Given the description of an element on the screen output the (x, y) to click on. 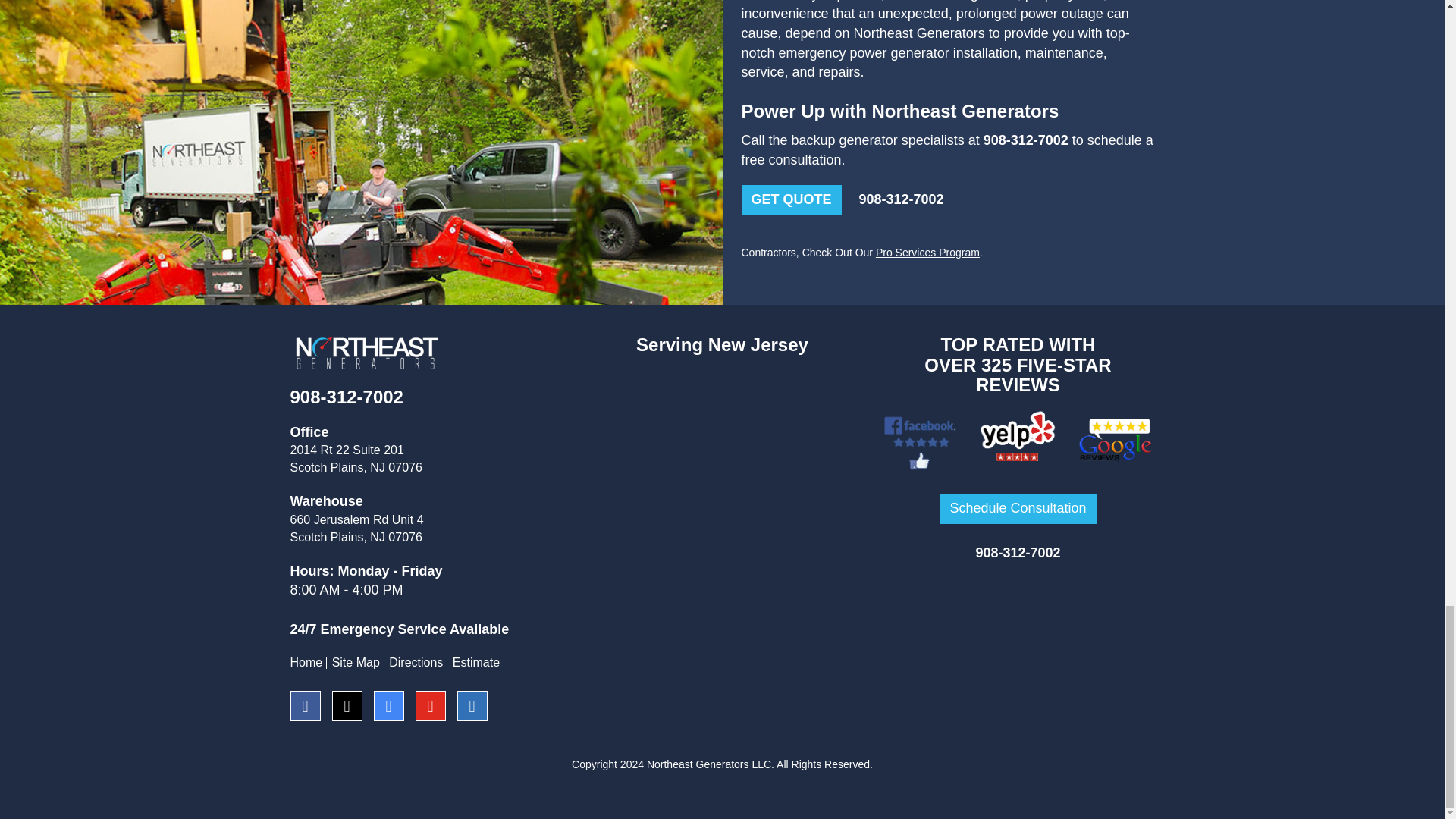
908-312-7002 (1026, 140)
Estimate (475, 662)
Best NJ Generator Installations and Service (365, 352)
YouTube (435, 707)
908-312-7002 (346, 396)
Schedule Consultation (1017, 508)
908-312-7002 (1017, 552)
Home (305, 662)
Google Maps (1017, 406)
